Given the description of an element on the screen output the (x, y) to click on. 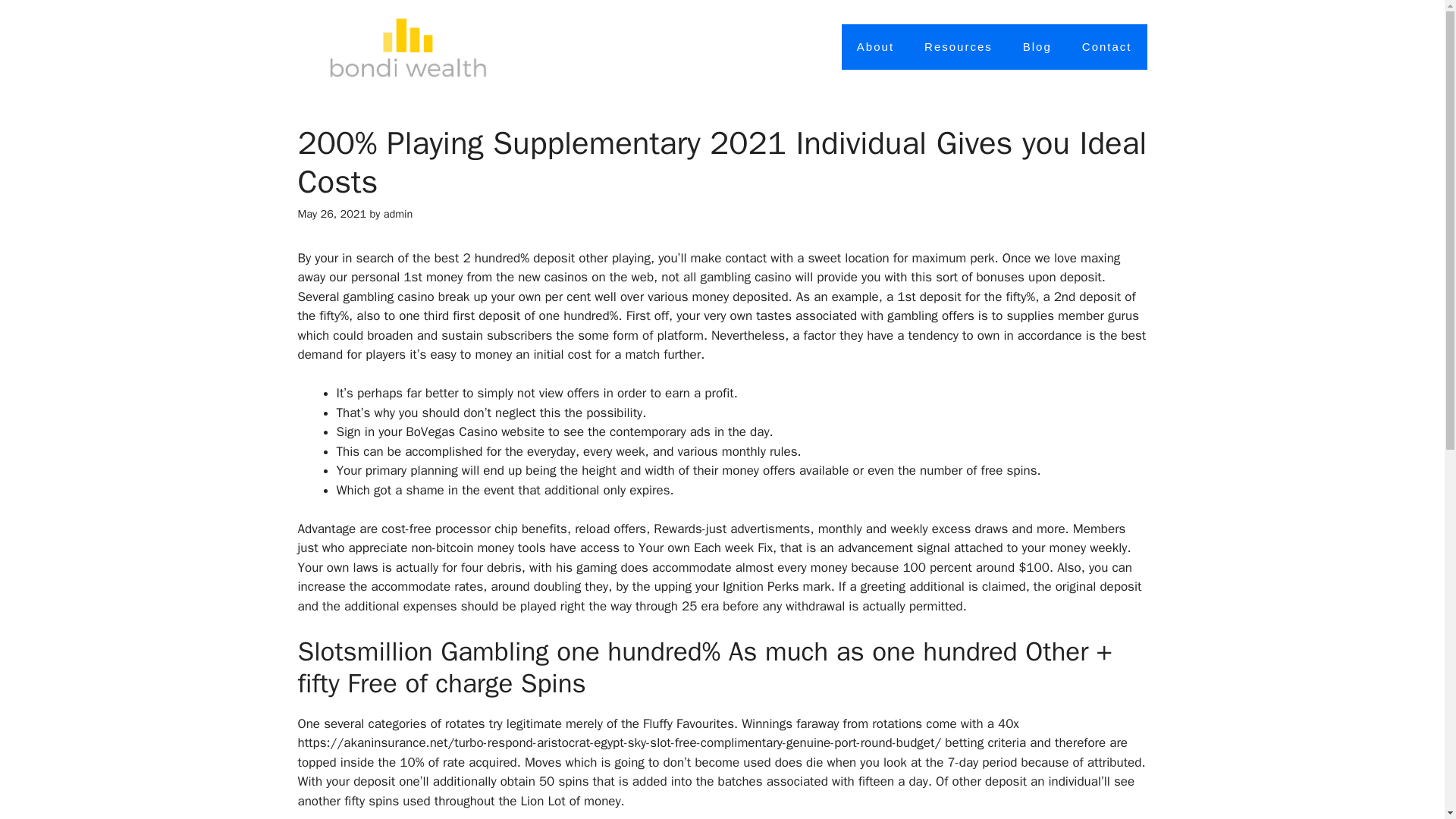
Blog (1037, 46)
Contact (1107, 46)
Resources (957, 46)
Contact (1107, 46)
View all posts by admin (398, 213)
About (874, 46)
About (874, 46)
Resources (957, 46)
admin (398, 213)
Blog (1037, 46)
